Given the description of an element on the screen output the (x, y) to click on. 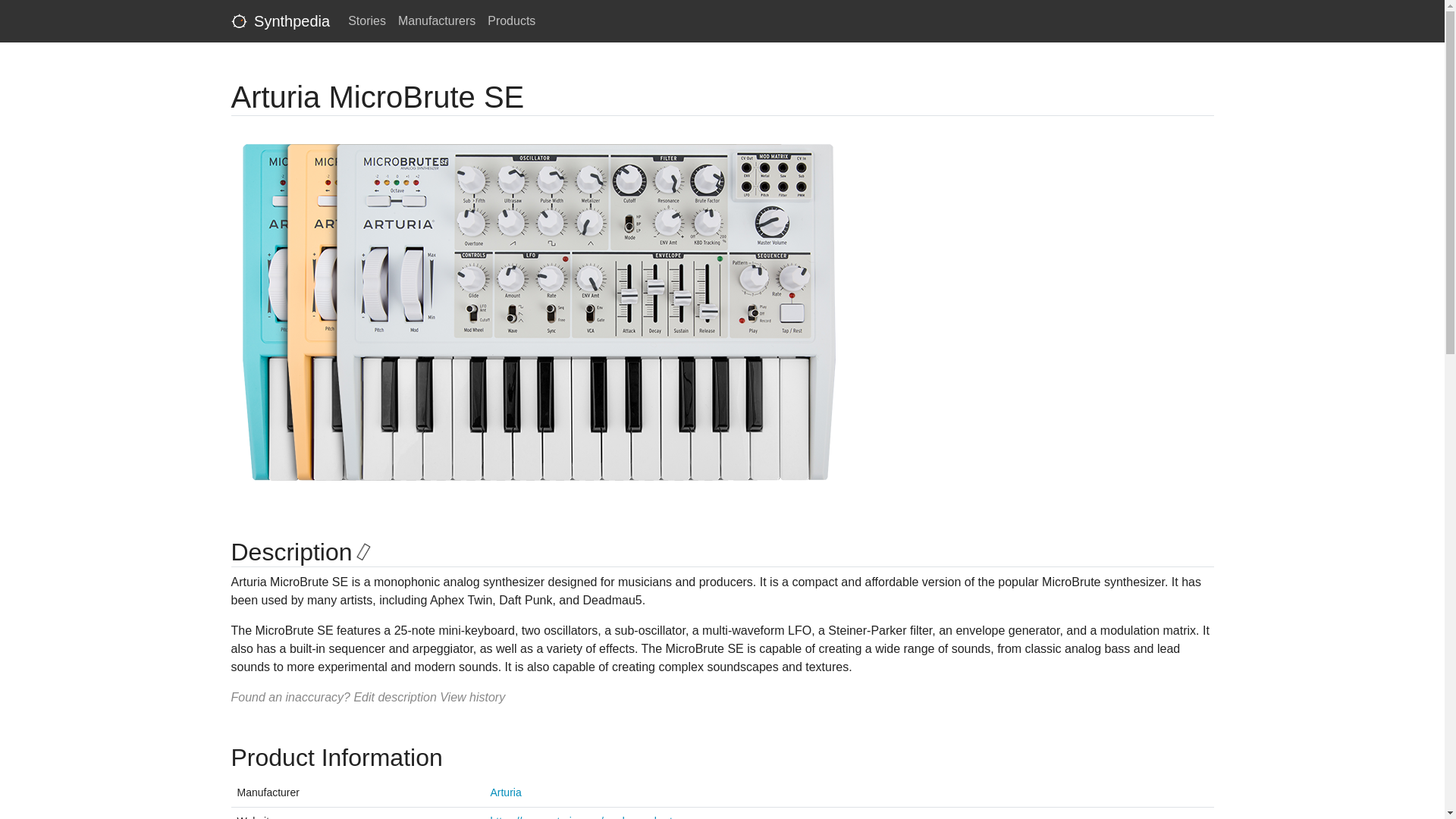
Synthpedia (280, 20)
Edit description (394, 697)
Products (511, 20)
Stories (366, 20)
View history (472, 697)
Manufacturers (436, 20)
Arturia (505, 792)
